Given the description of an element on the screen output the (x, y) to click on. 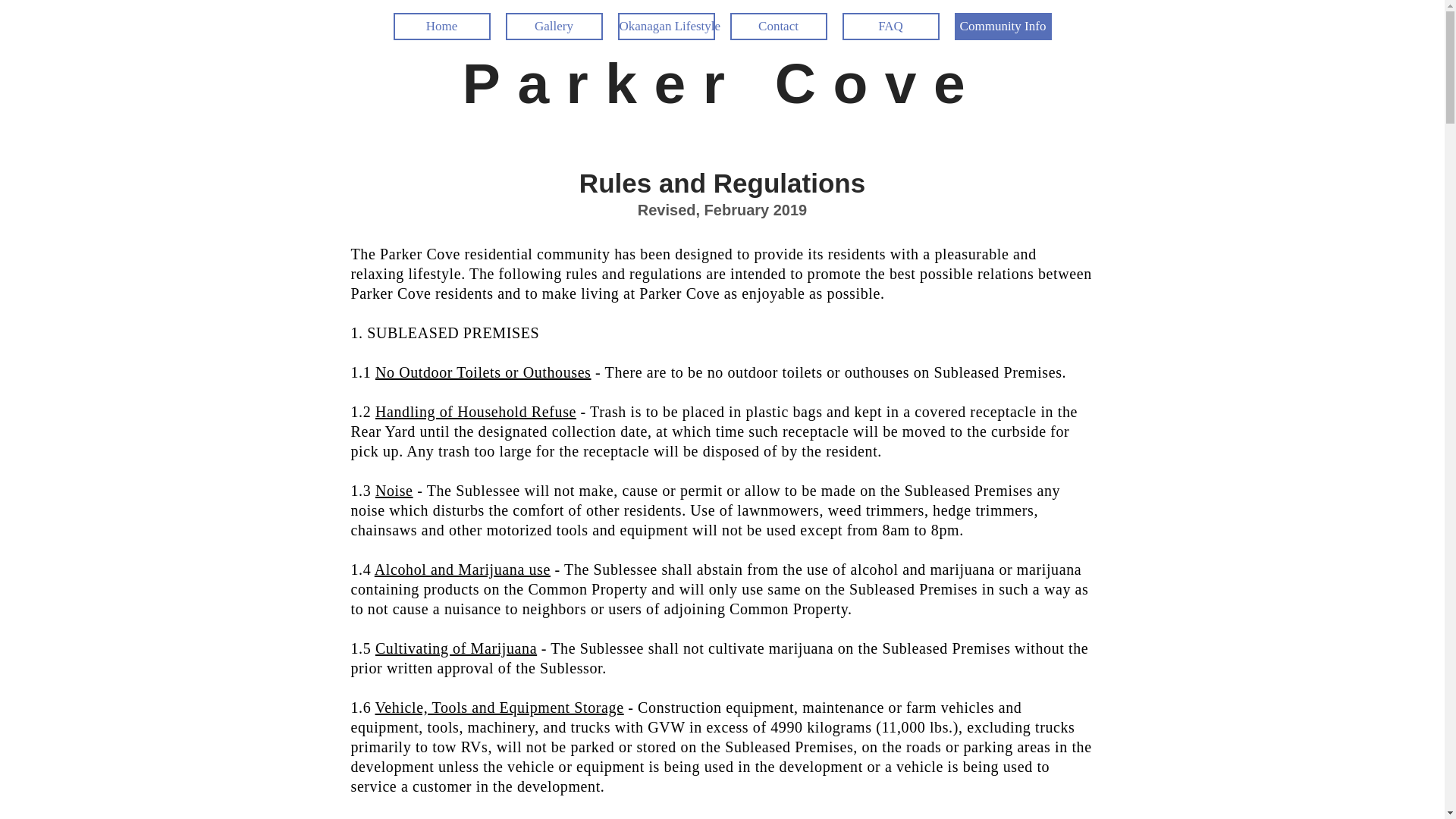
Community Info (1002, 26)
Contact (778, 26)
Okanagan Lifestyle (665, 26)
FAQ (890, 26)
Gallery (553, 26)
Home (441, 26)
Parker  (618, 83)
